Given the description of an element on the screen output the (x, y) to click on. 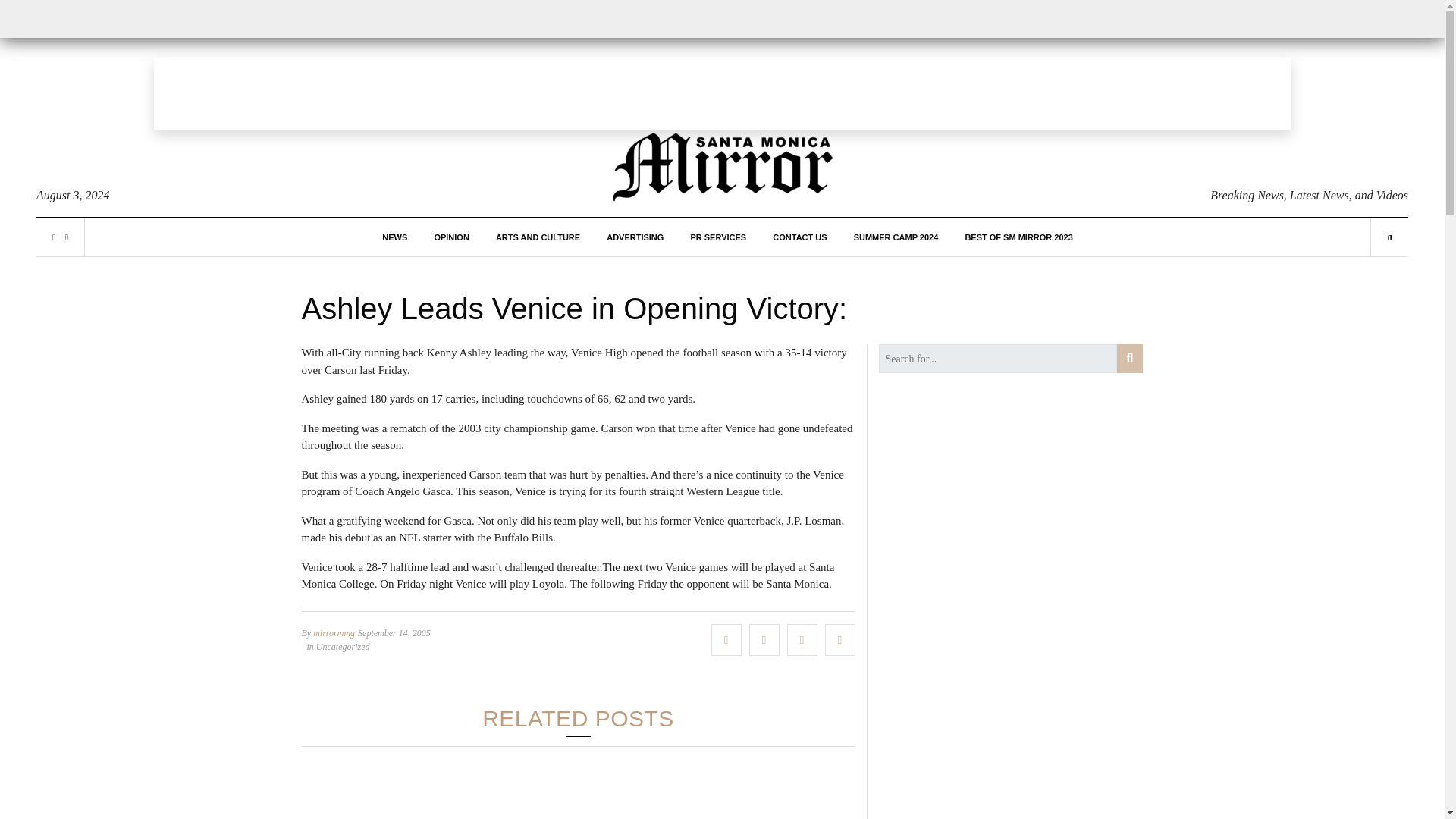
ADVERTISING (635, 237)
CONTACT US (800, 237)
mirrormmg (334, 633)
BEST OF SM MIRROR 2023 (1017, 237)
ARTS AND CULTURE (537, 237)
PR SERVICES (717, 237)
OPINION (450, 237)
Posts by mirrormmg (334, 633)
SUMMER CAMP 2024 (896, 237)
